Given the description of an element on the screen output the (x, y) to click on. 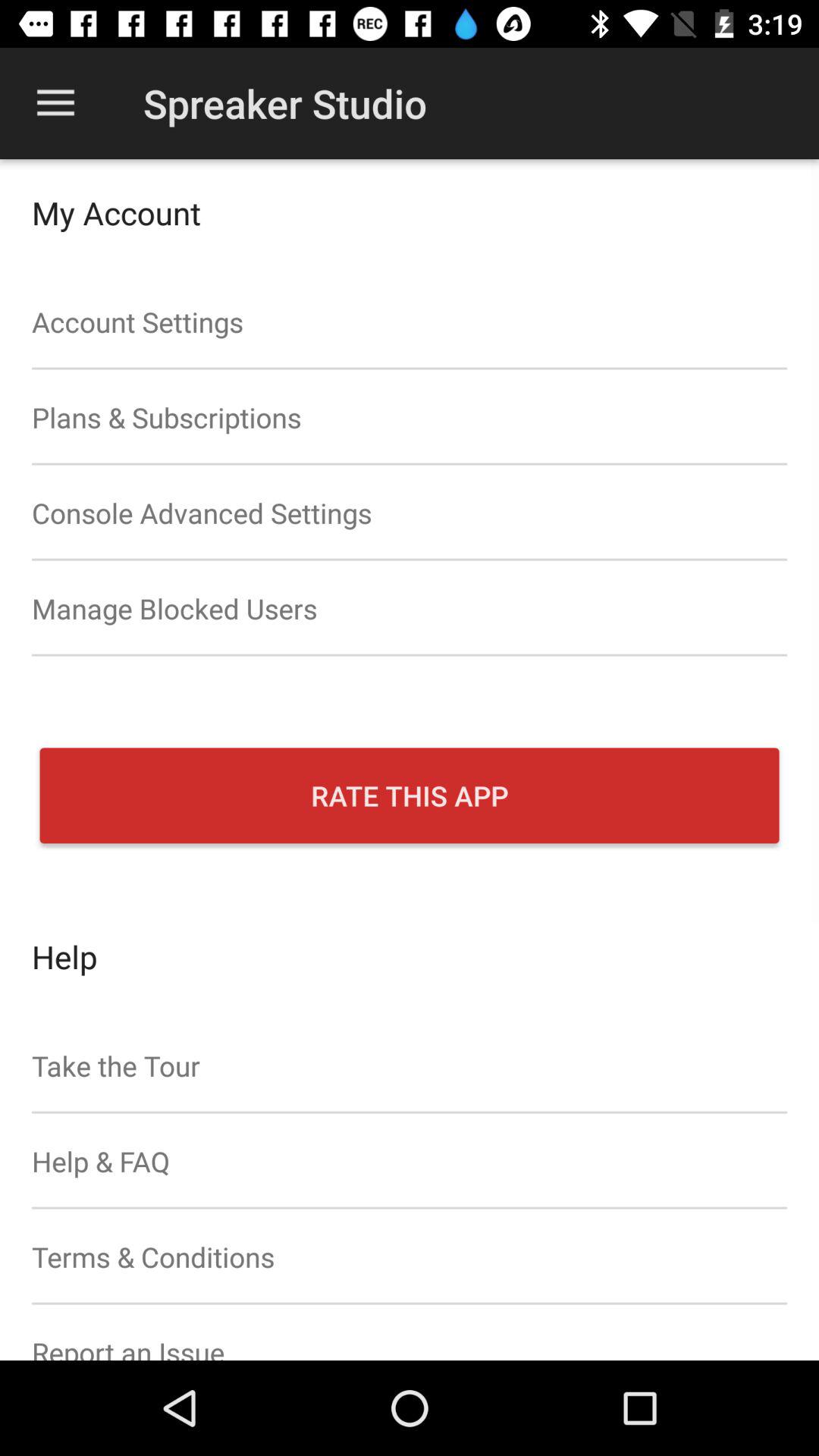
choose item above the my account (55, 103)
